Given the description of an element on the screen output the (x, y) to click on. 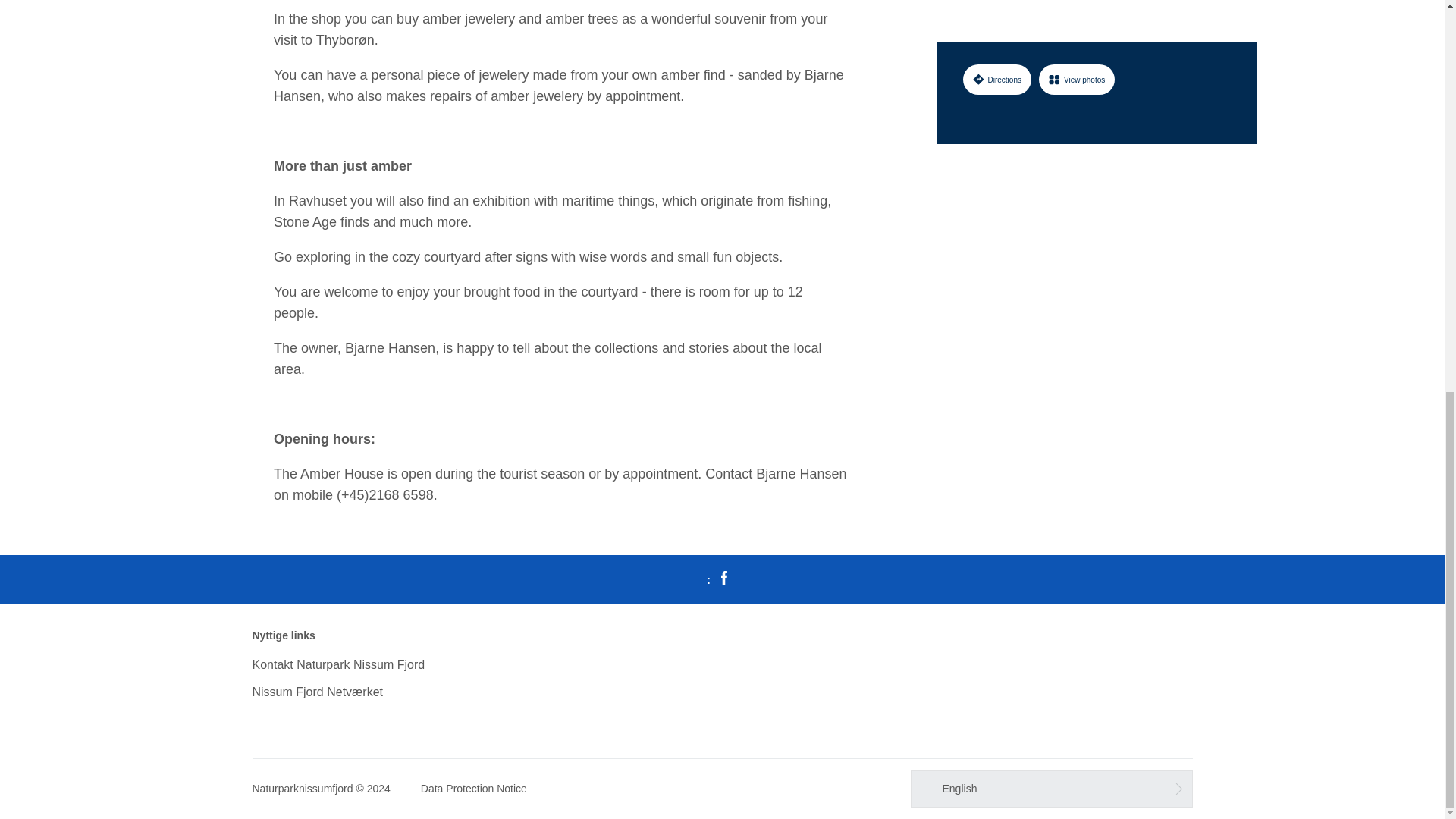
Data Protection Notice (473, 788)
Kontakt Naturpark Nissum Fjord (338, 664)
Kontakt Naturpark Nissum Fjord (338, 664)
Data Protection Notice (473, 788)
facebook (724, 579)
